Given the description of an element on the screen output the (x, y) to click on. 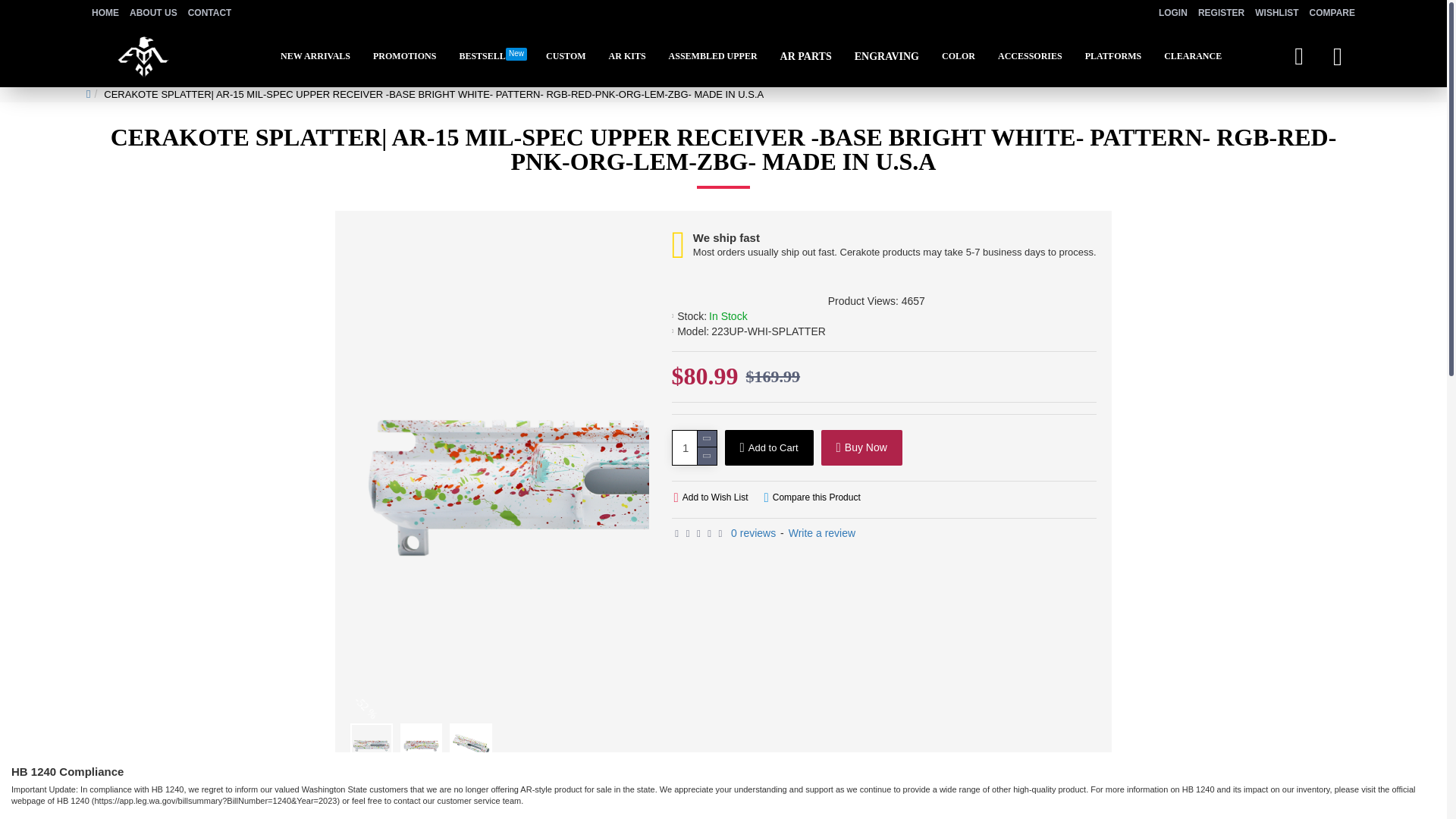
OUTDOOR SPORTS USA (142, 56)
1 (694, 447)
COMPARE (1331, 13)
NEW ARRIVALS (315, 56)
HOME (104, 13)
WISHLIST (1276, 13)
ABOUT US (153, 13)
PROMOTIONS (403, 56)
REGISTER (1220, 13)
LOGIN (490, 56)
CUSTOM (1172, 13)
CONTACT (565, 56)
AR KITS (210, 13)
